Given the description of an element on the screen output the (x, y) to click on. 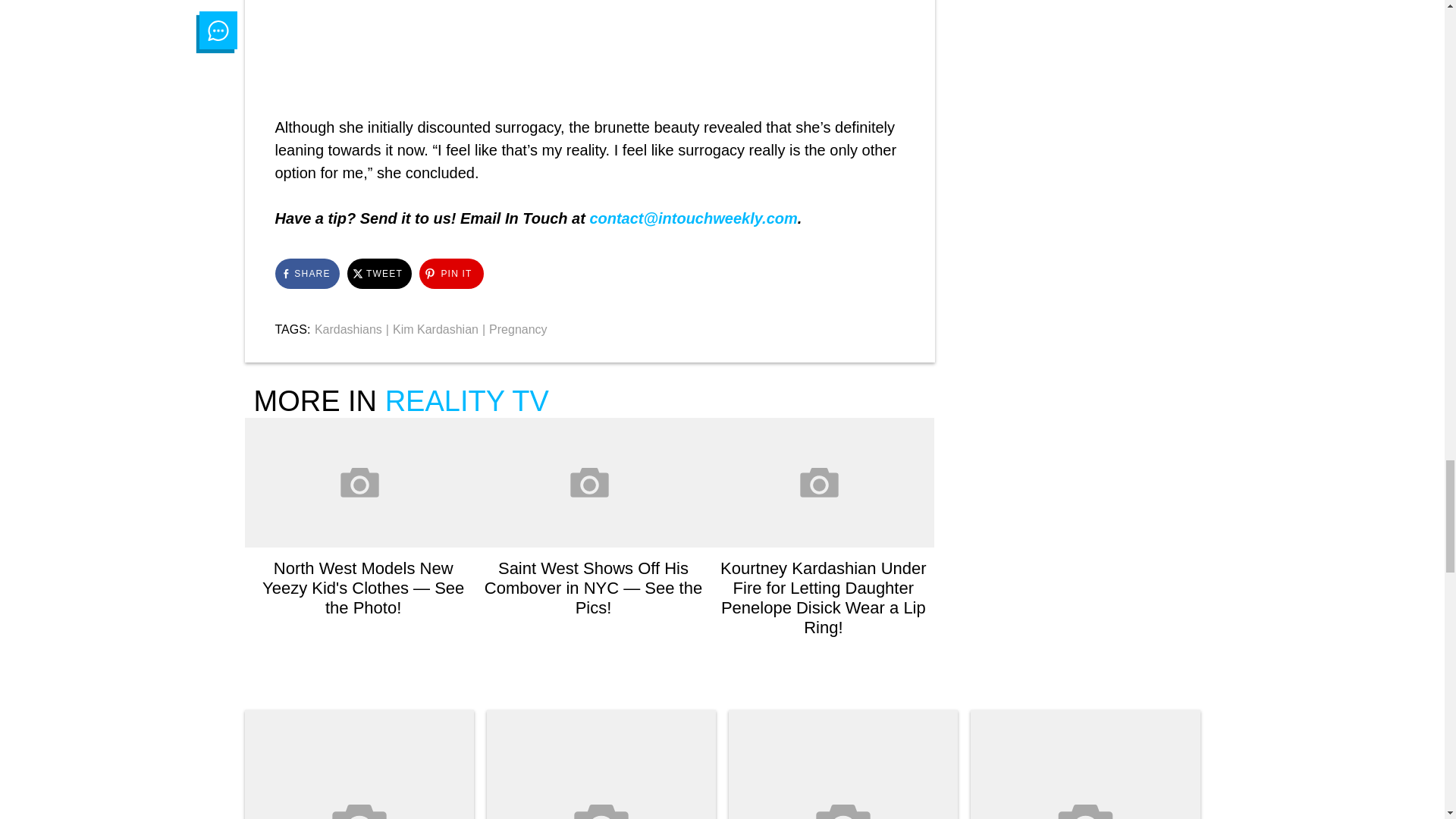
Click to share on Twitter (379, 273)
Click to share on Pinterest (451, 273)
Click to share on Facebook (307, 273)
